Given the description of an element on the screen output the (x, y) to click on. 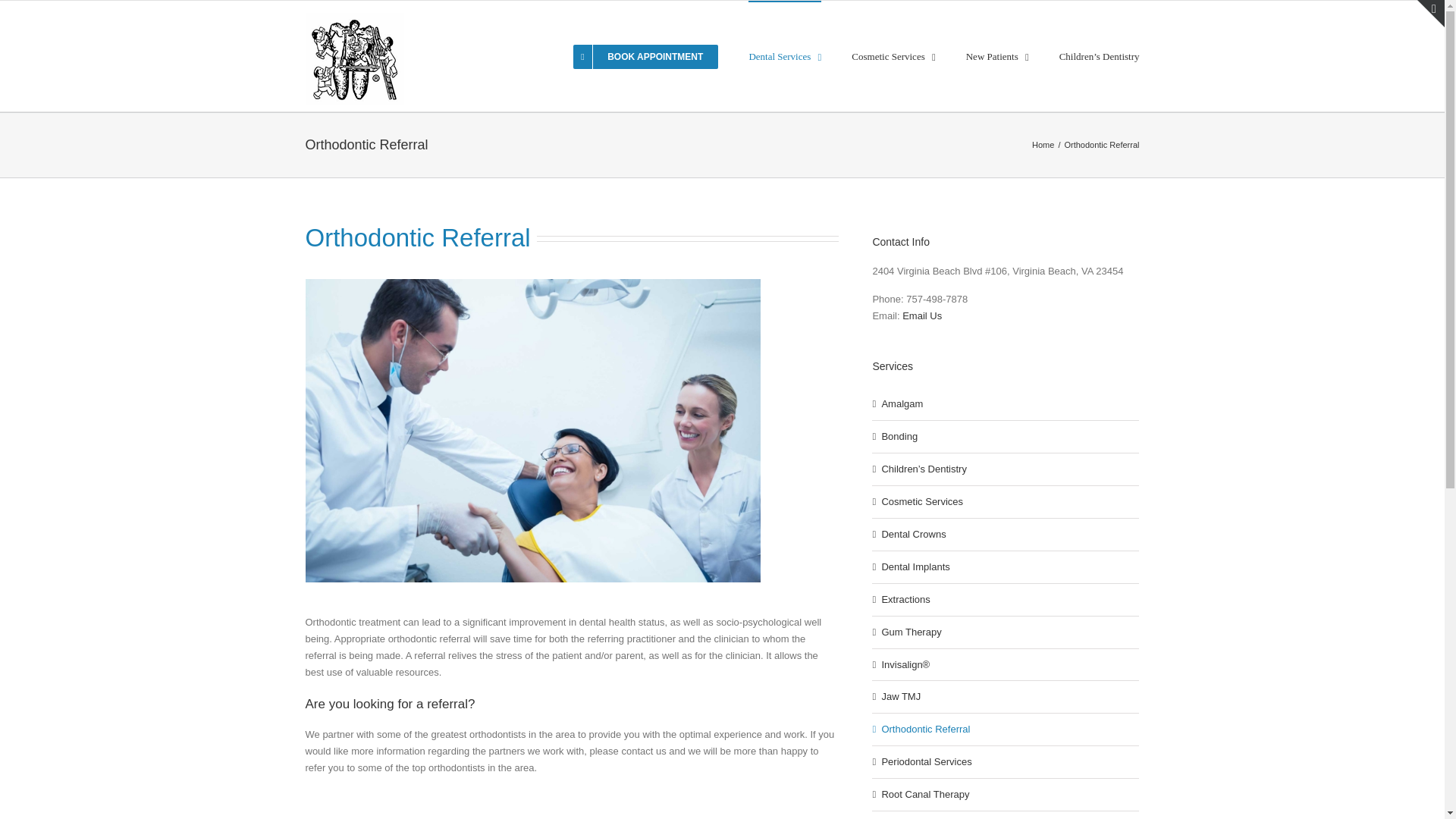
Amalgam (901, 403)
Home (1043, 144)
Orthodontic Referral (924, 728)
Jaw TMJ (900, 696)
BOOK APPOINTMENT (645, 55)
Bonding (898, 436)
Periodontal Services (925, 761)
Email Us (922, 315)
Dental Implants (914, 566)
Dental Crowns (912, 533)
Extractions (905, 599)
Gum Therapy (910, 632)
Cosmetic Services (921, 501)
